Given the description of an element on the screen output the (x, y) to click on. 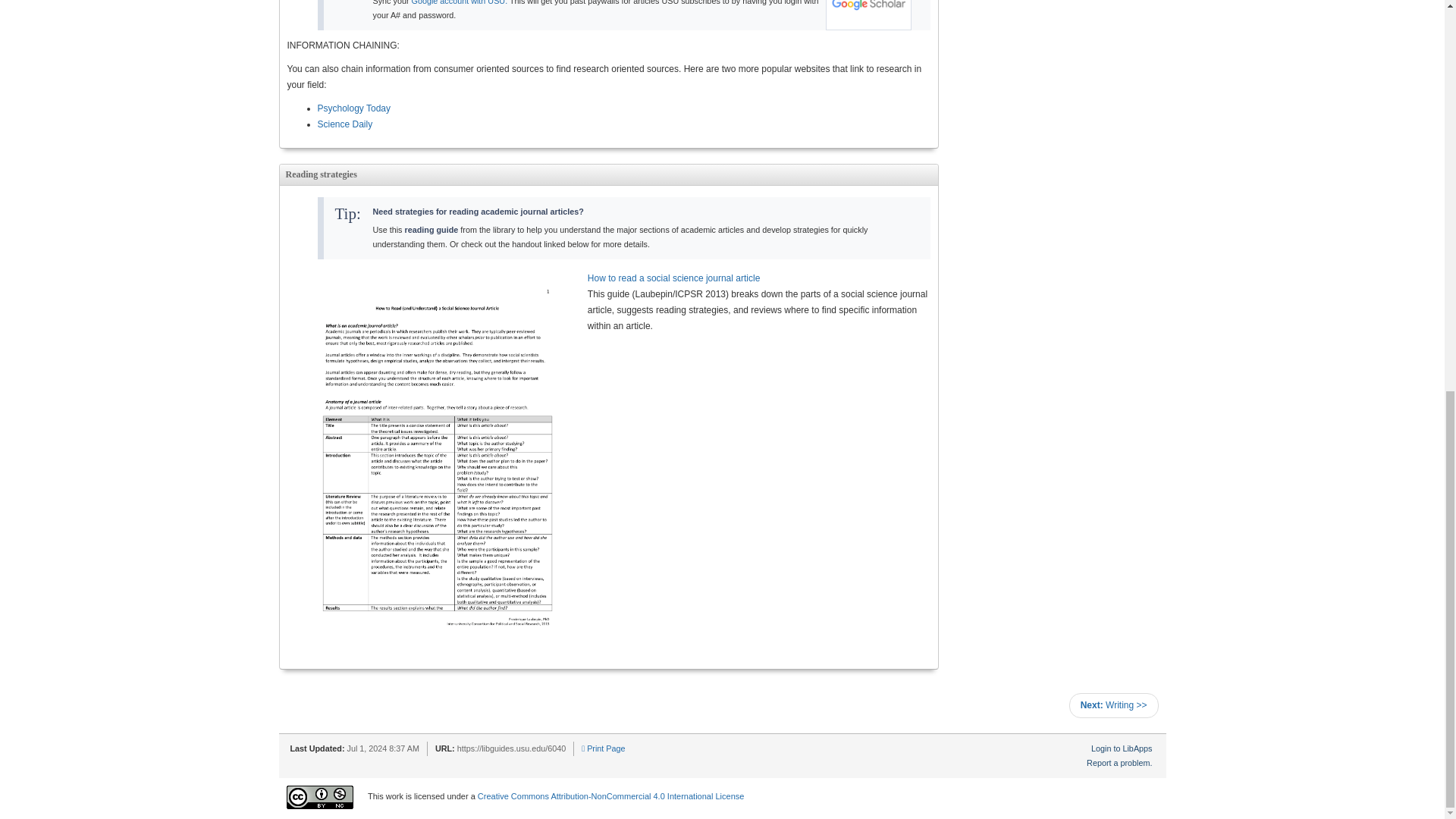
Science Daily (344, 123)
reading guide (431, 229)
Psychology Today (353, 108)
Google account with USU. (460, 2)
